Given the description of an element on the screen output the (x, y) to click on. 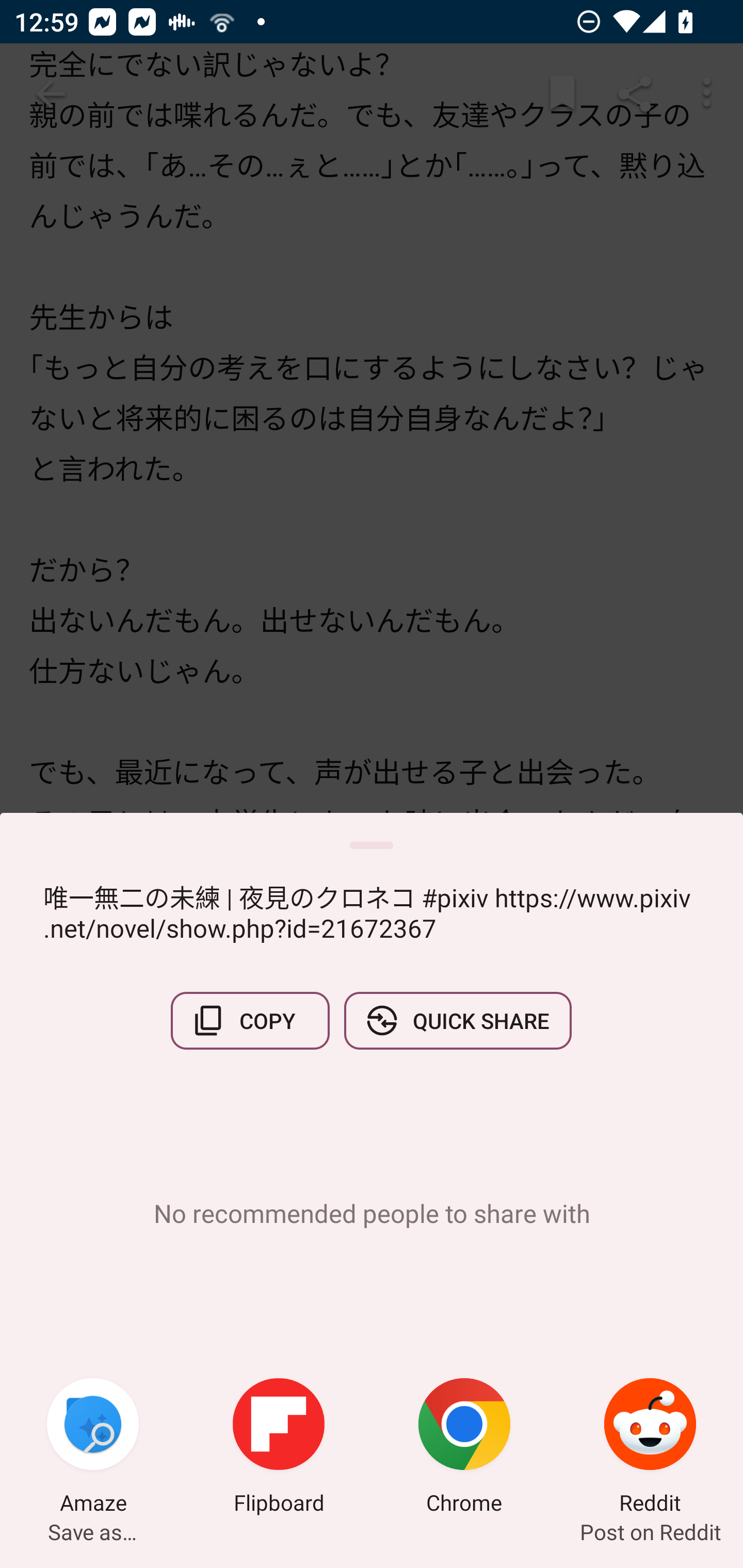
COPY (249, 1020)
QUICK SHARE (457, 1020)
Amaze Save as… (92, 1448)
Flipboard (278, 1448)
Chrome (464, 1448)
Reddit Post on Reddit (650, 1448)
